Given the description of an element on the screen output the (x, y) to click on. 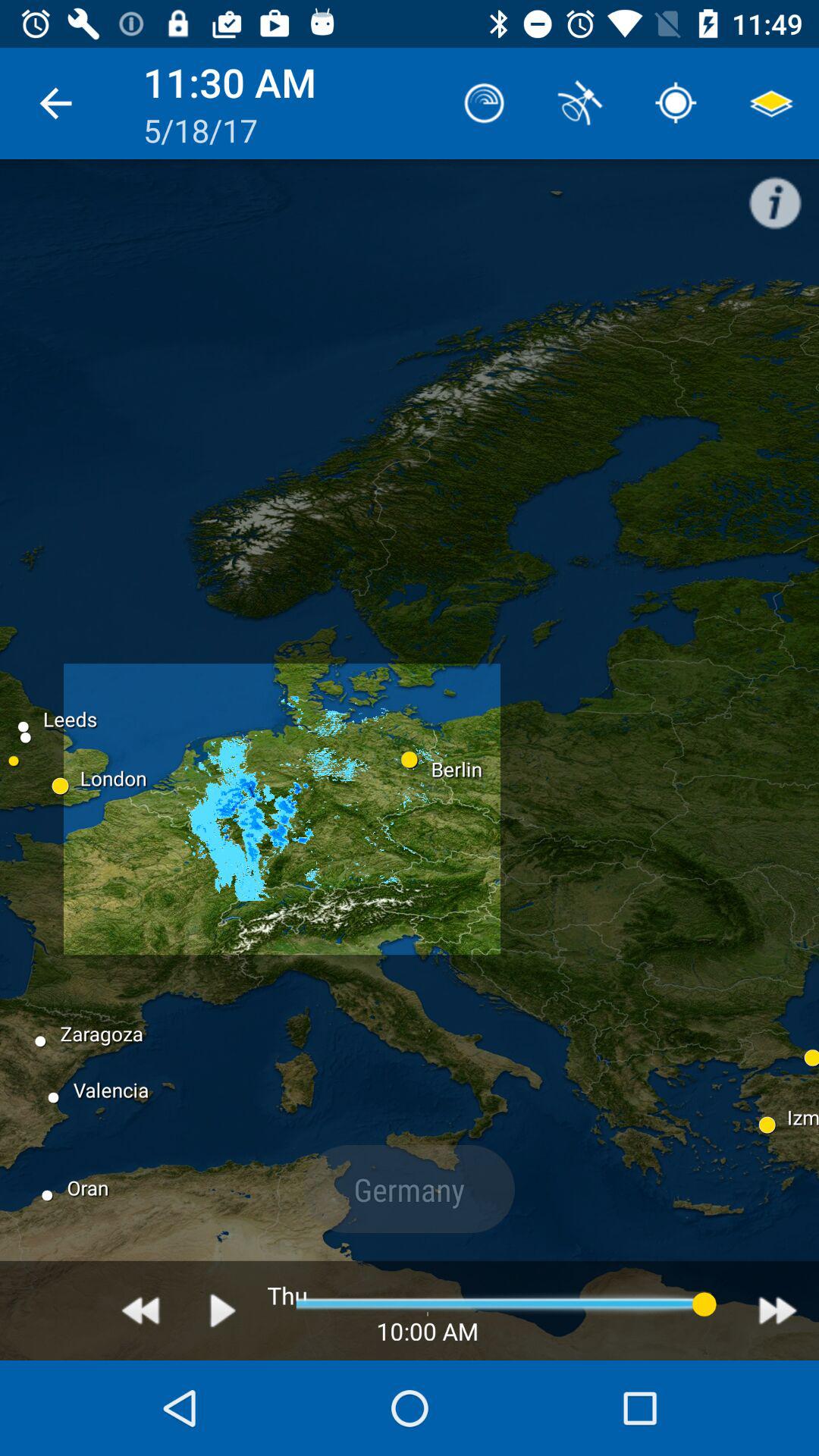
fast foward (777, 1310)
